Given the description of an element on the screen output the (x, y) to click on. 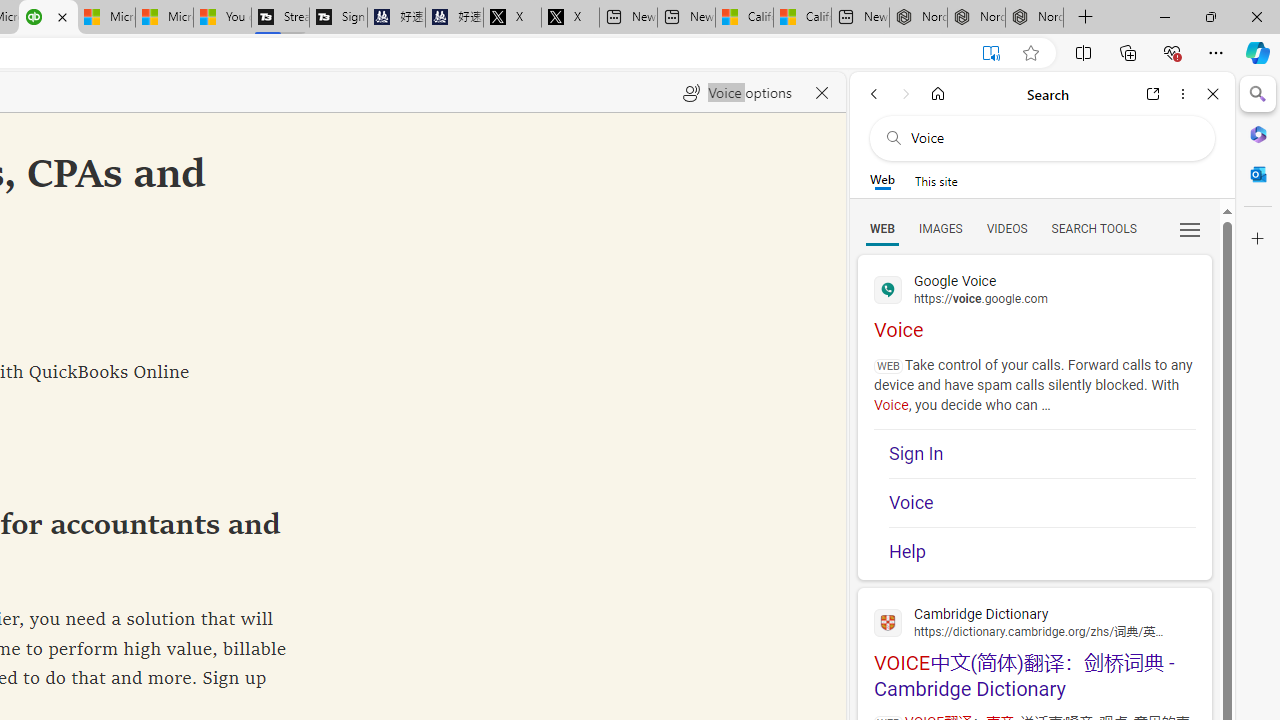
Streaming Coverage | T3 (280, 17)
Search the web (1051, 137)
Exit Immersive Reader (F9) (991, 53)
Sign In (1042, 453)
Microsoft 365 (1258, 133)
Forward (906, 93)
Search Filter, VIDEOS (1006, 228)
Nordace - Siena Pro 15 Essential Set (1034, 17)
Nordace Siena Pro 15 Backpack (976, 17)
